Given the description of an element on the screen output the (x, y) to click on. 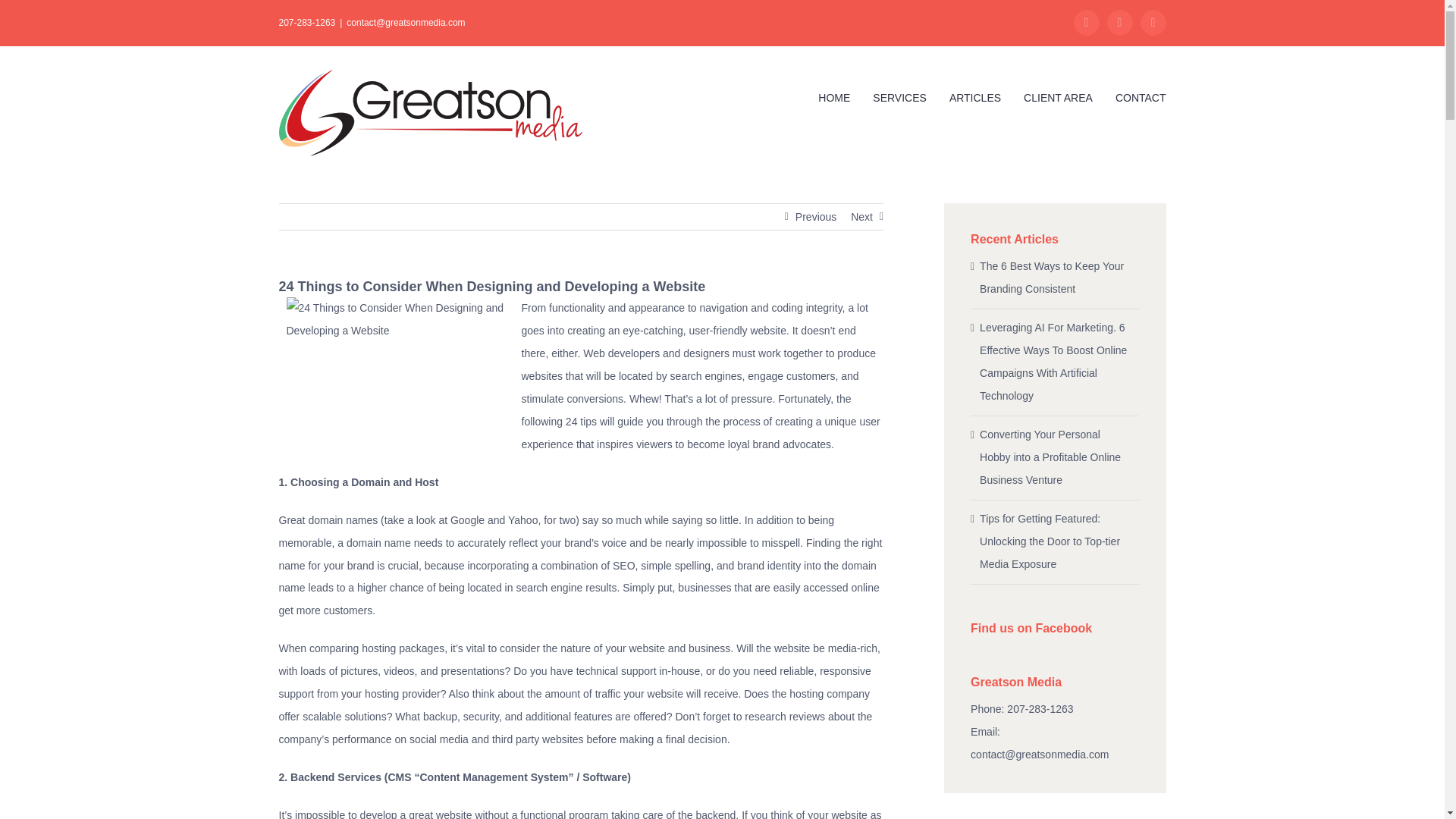
Instagram (1119, 22)
Facebook (1086, 22)
Facebook (1086, 22)
207-283-1263 (307, 22)
X (1153, 22)
Instagram (1119, 22)
X (1153, 22)
